Given the description of an element on the screen output the (x, y) to click on. 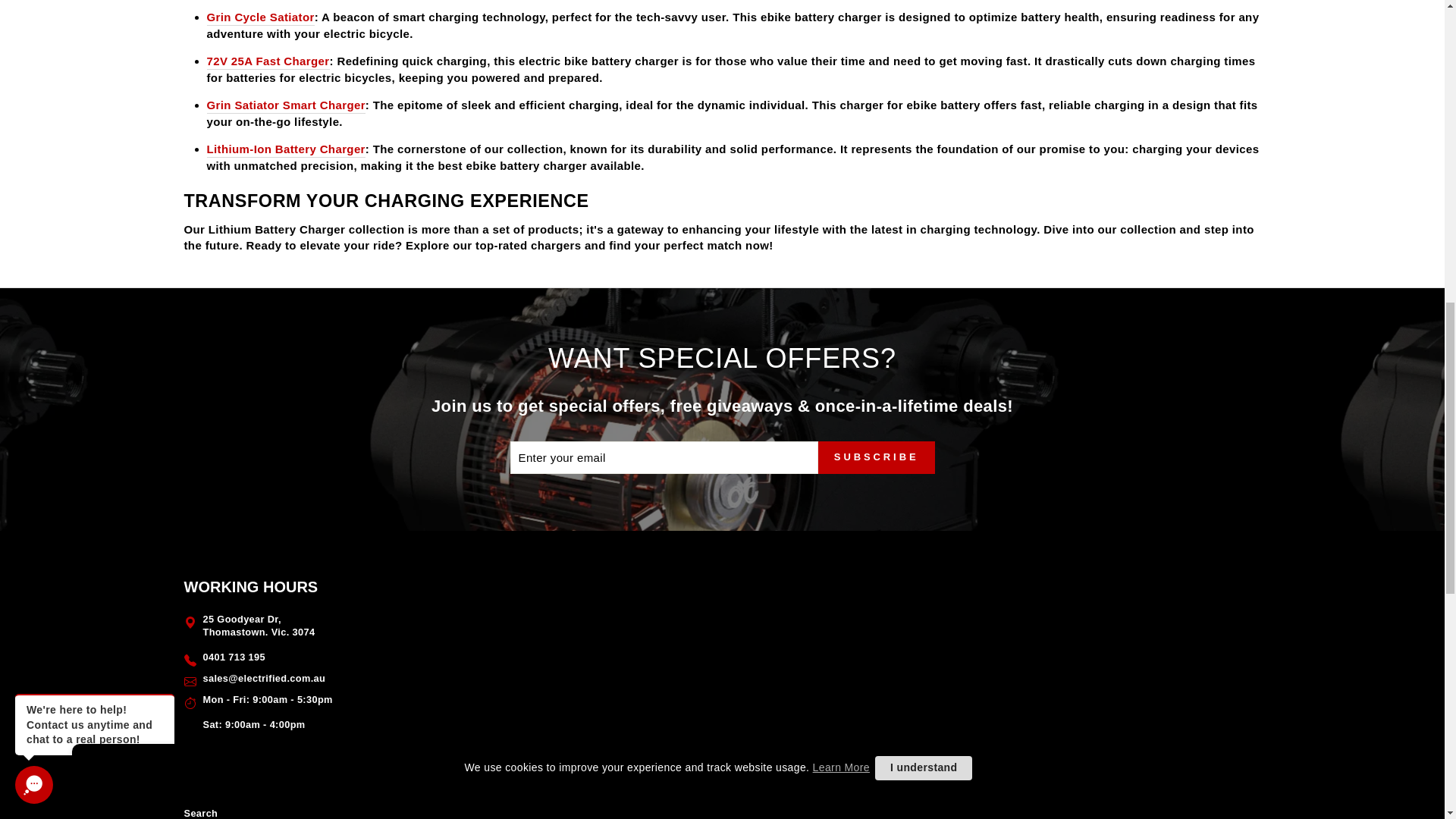
Verified by Vitals (118, 60)
